Given the description of an element on the screen output the (x, y) to click on. 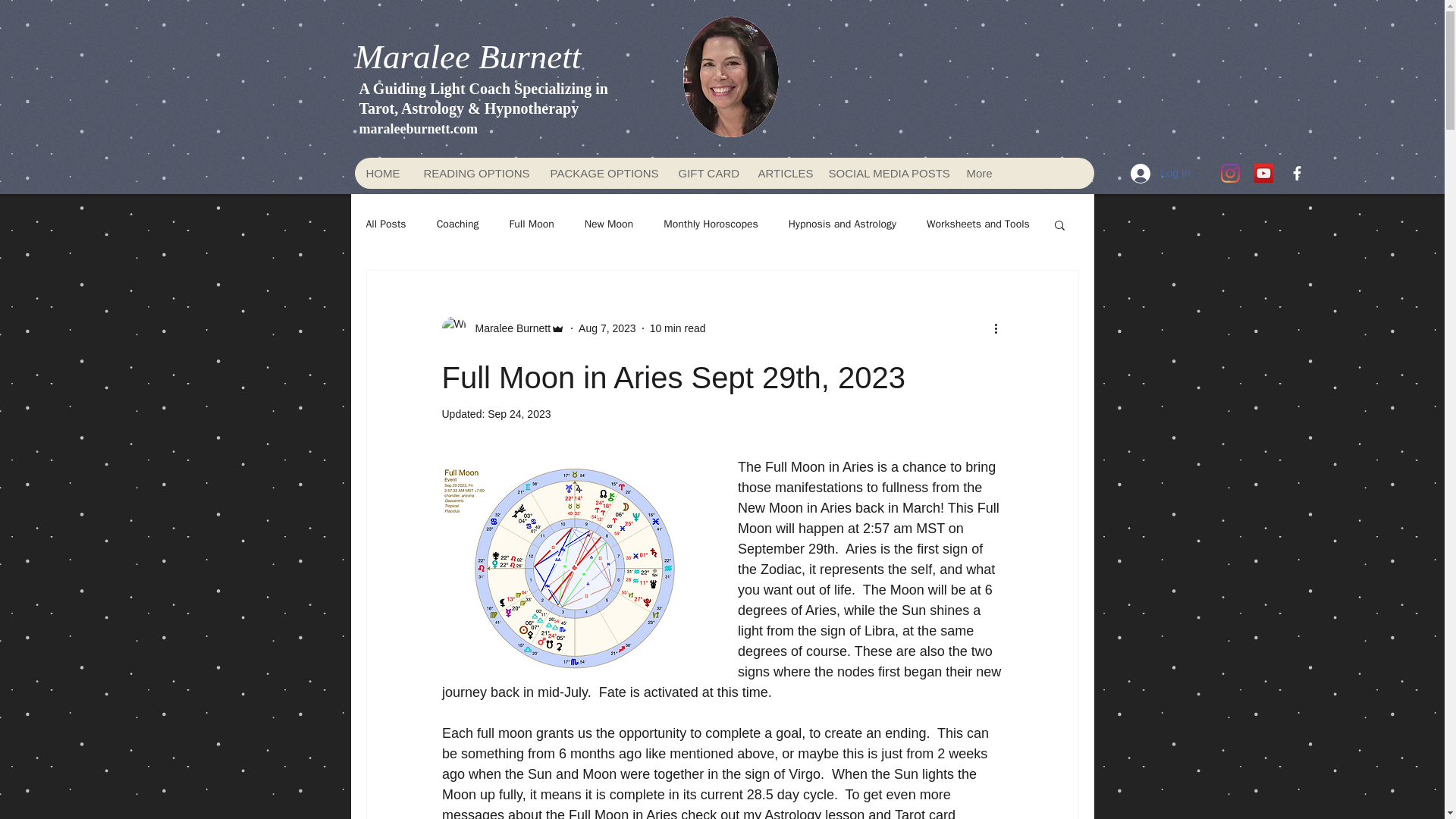
Aug 7, 2023 (607, 327)
SOCIAL MEDIA POSTS (884, 173)
READING OPTIONS (473, 173)
A Guiding Light Coach Specializing in (483, 88)
All Posts (385, 223)
Worksheets and Tools (977, 223)
Log In (1160, 173)
Maralee Burnett (502, 328)
GIFT CARD (705, 173)
PACKAGE OPTIONS (602, 173)
